Given the description of an element on the screen output the (x, y) to click on. 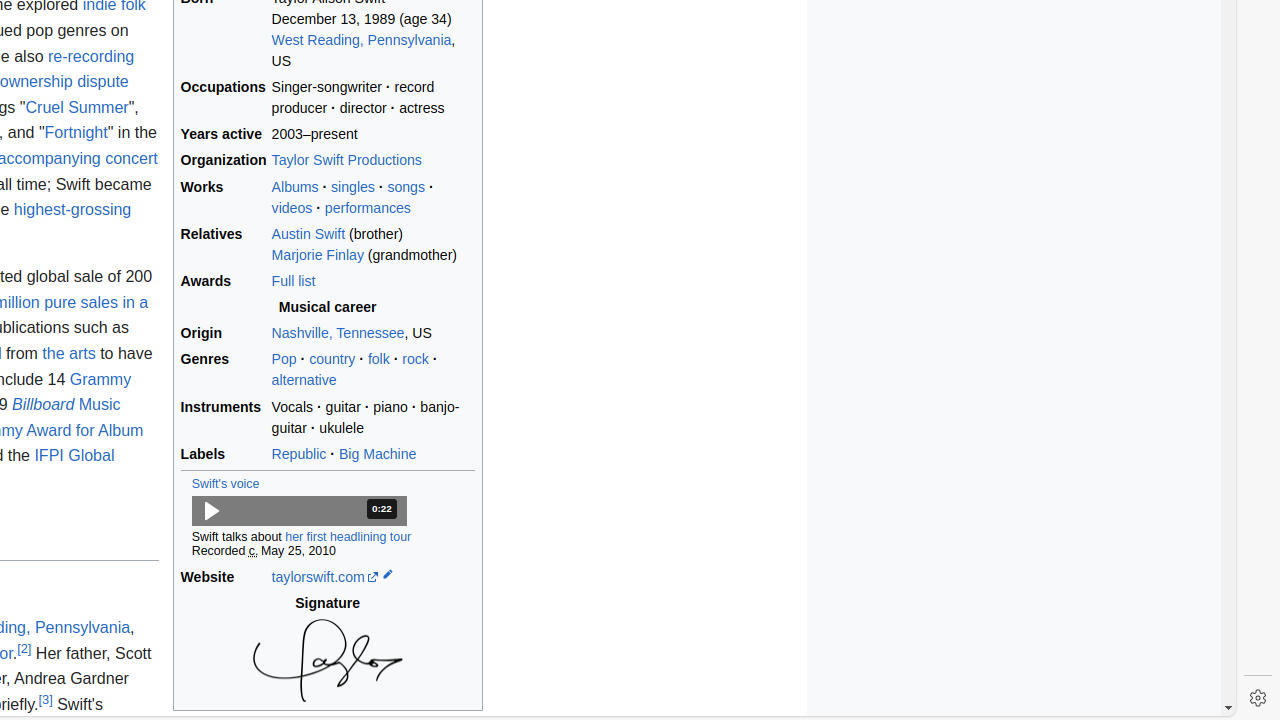
Nashville, Tennessee, US Element type: table-cell (373, 334)
[2] Element type: link (24, 648)
Edit this at Wikidata Element type: link (387, 576)
alternative Element type: link (304, 380)
Republic Element type: link (299, 453)
